Given the description of an element on the screen output the (x, y) to click on. 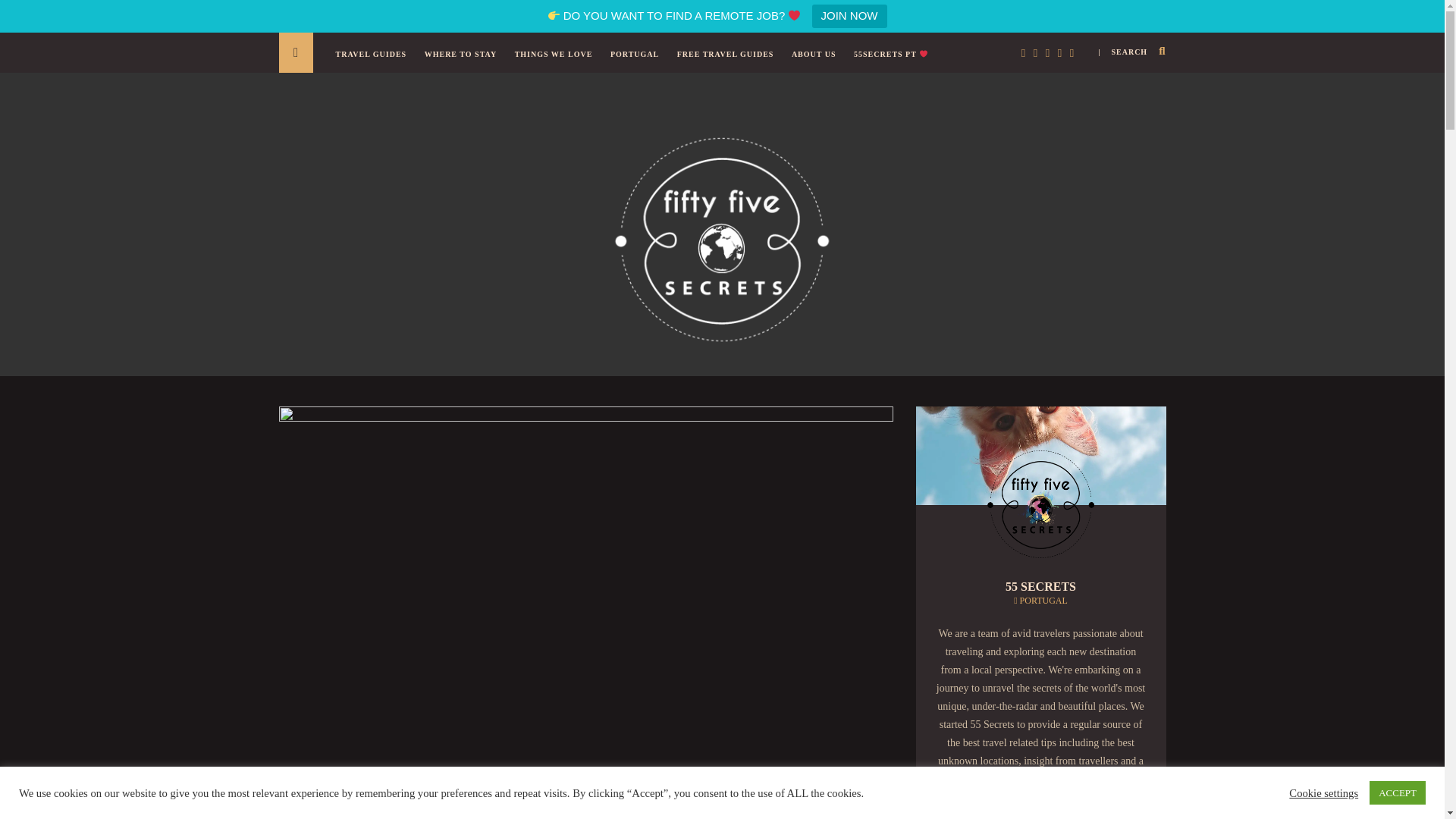
WHERE TO STAY (464, 62)
THINGS WE LOVE (557, 62)
TRAVEL GUIDES (373, 62)
55SECRETS PT (894, 62)
FREE TRAVEL GUIDES (729, 62)
JOIN NOW (849, 15)
55Secrets :  Portuguese Travel Couple  (721, 237)
ABOUT US (818, 62)
PORTUGAL (638, 62)
